Given the description of an element on the screen output the (x, y) to click on. 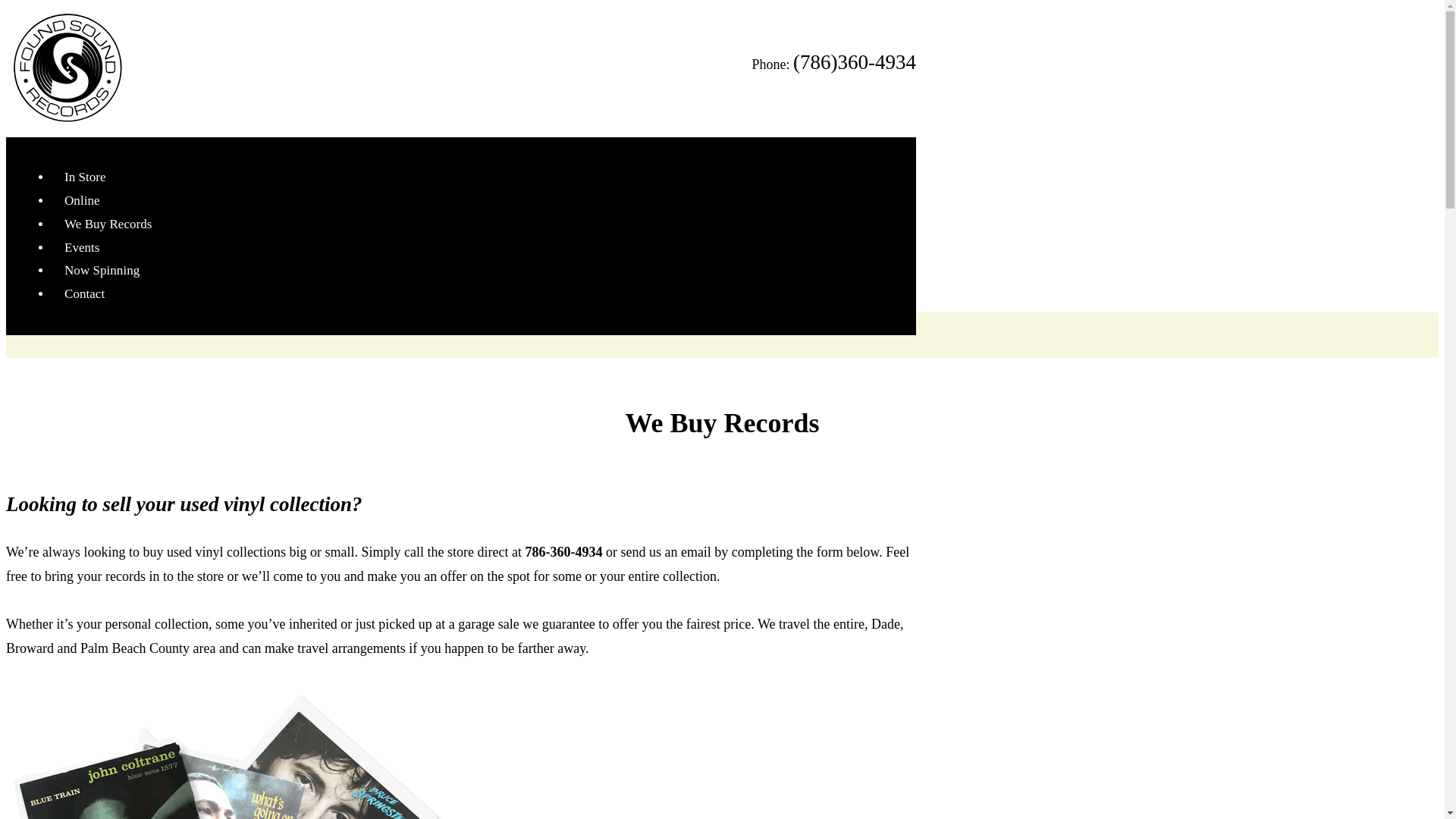
Online (82, 200)
In Store (85, 176)
Events (82, 247)
We Buy Records (107, 223)
Contact (84, 293)
Now Spinning (101, 269)
